Given the description of an element on the screen output the (x, y) to click on. 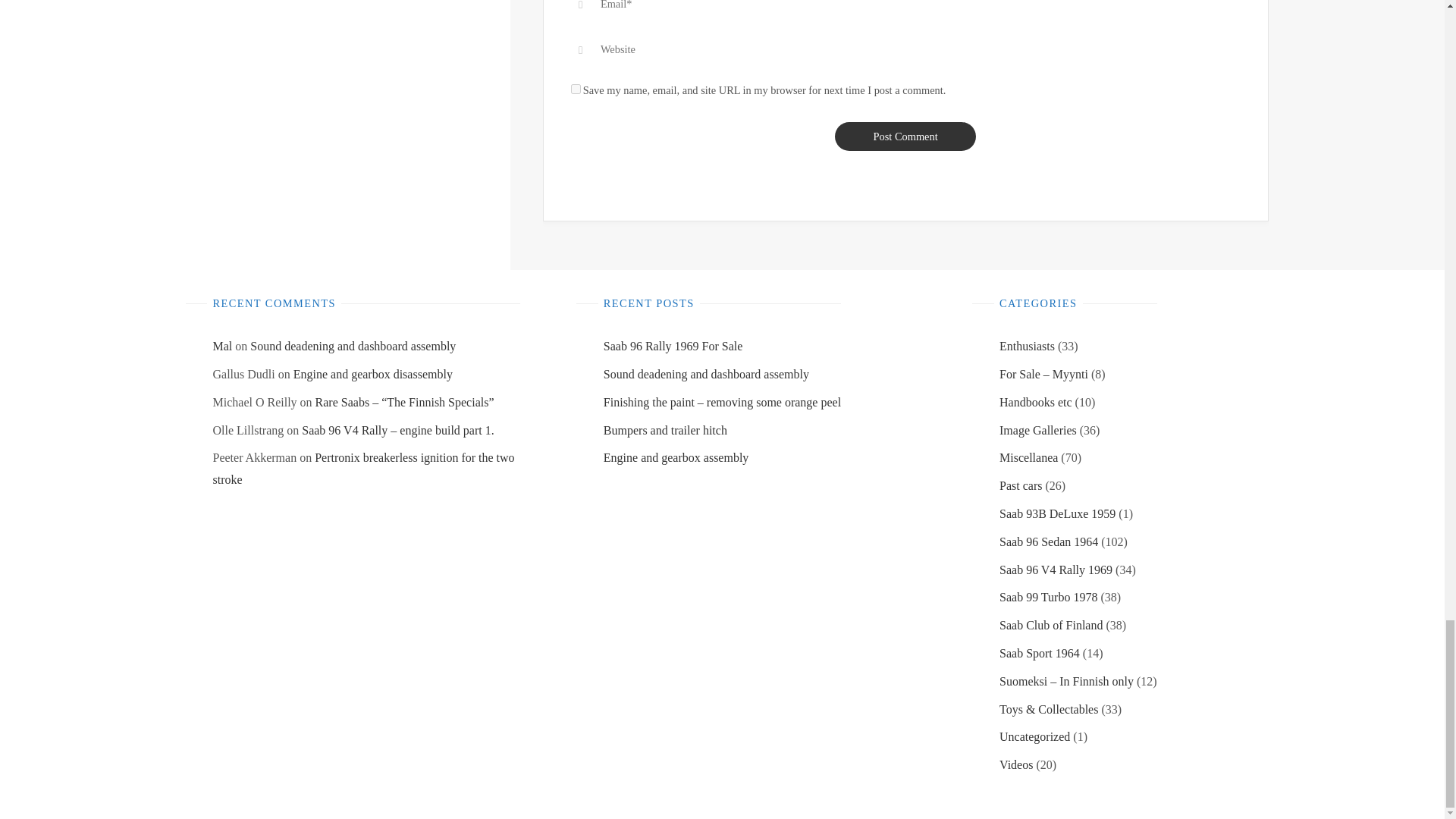
yes (575, 89)
Post Comment (904, 135)
Post Comment (904, 135)
Sound deadening and dashboard assembly (352, 345)
Mal (221, 345)
